Given the description of an element on the screen output the (x, y) to click on. 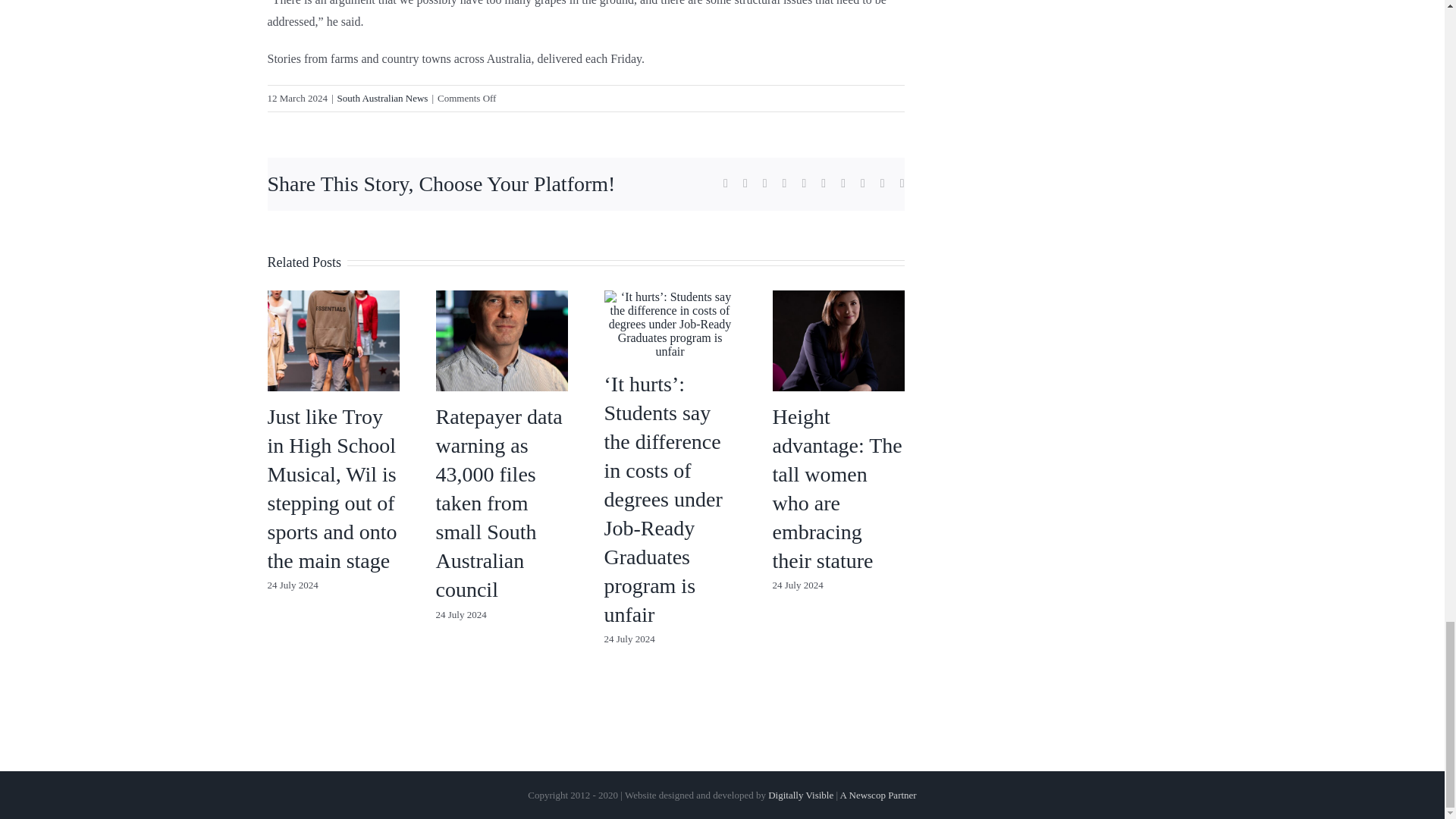
South Australian News (382, 98)
